Given the description of an element on the screen output the (x, y) to click on. 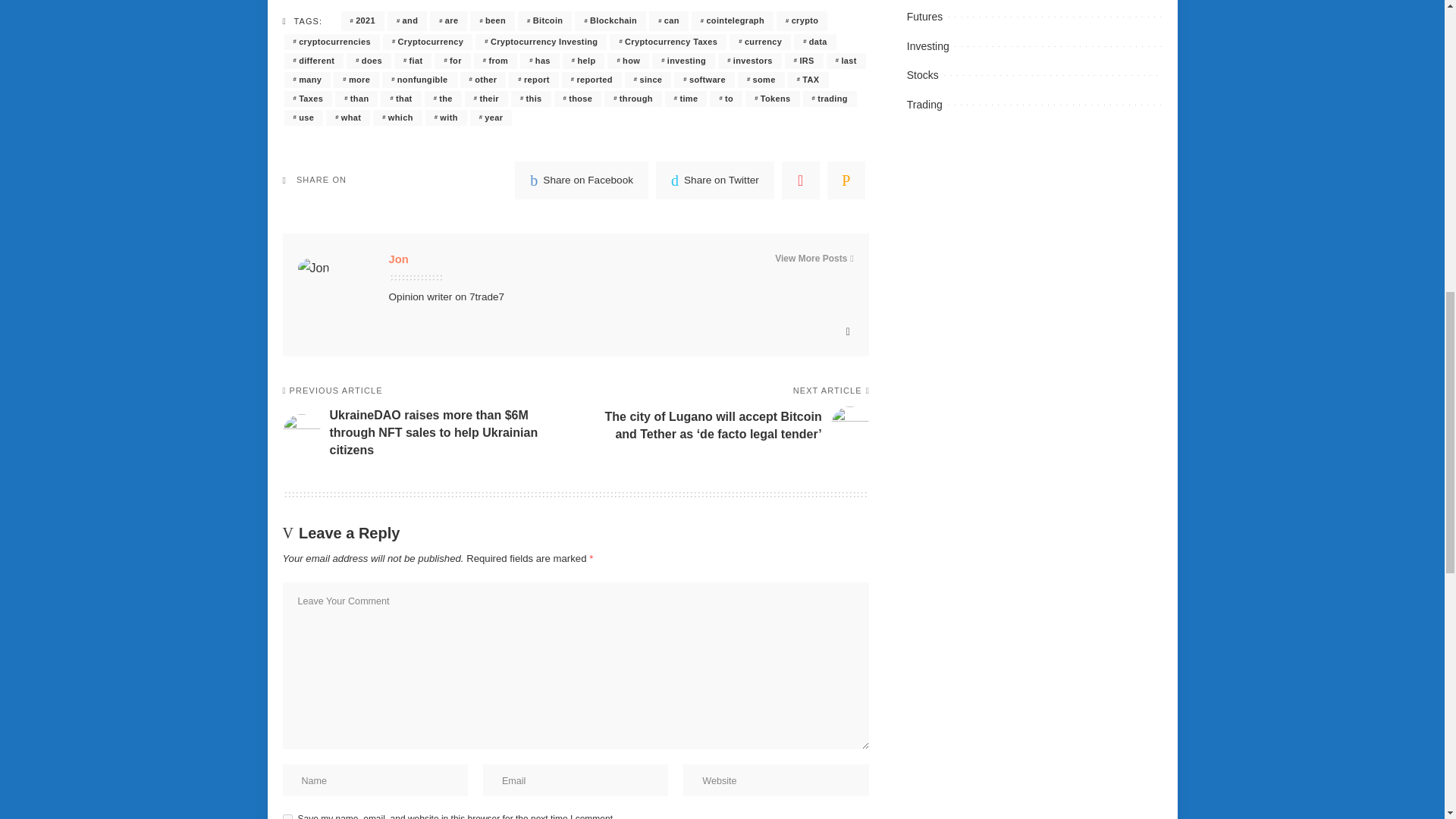
yes (287, 816)
